Given the description of an element on the screen output the (x, y) to click on. 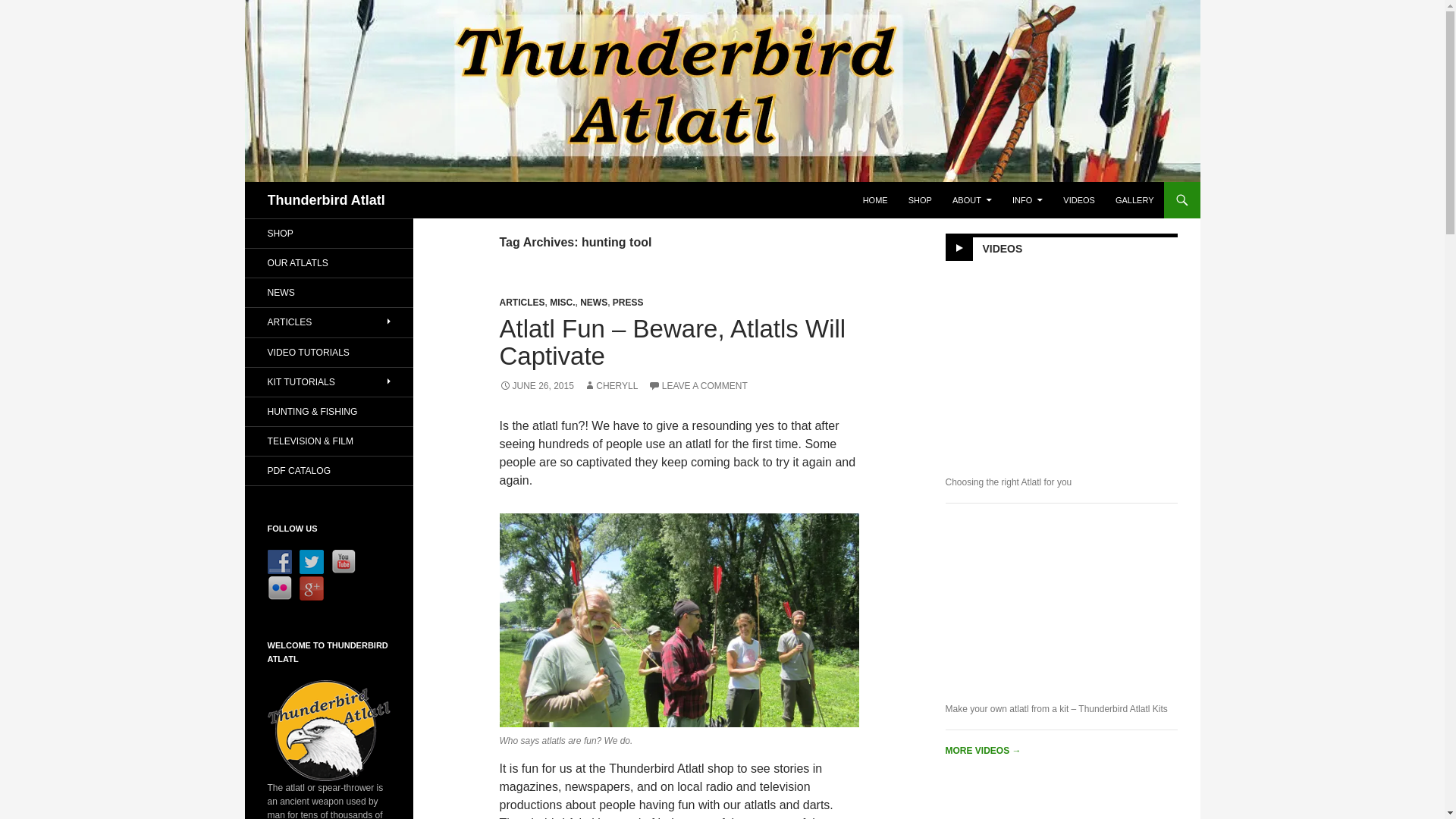
Thunderbird Atlatl (325, 199)
Follow Us on YouTube (342, 561)
INFO (1027, 199)
Follow Us on Flickr (278, 588)
ABOUT (972, 199)
VIDEOS (1078, 199)
GALLERY (1134, 199)
Follow Us on Facebook (278, 561)
HOME (874, 199)
LEAVE A COMMENT (697, 385)
ARTICLES (521, 302)
NEWS (593, 302)
SHOP (919, 199)
